Given the description of an element on the screen output the (x, y) to click on. 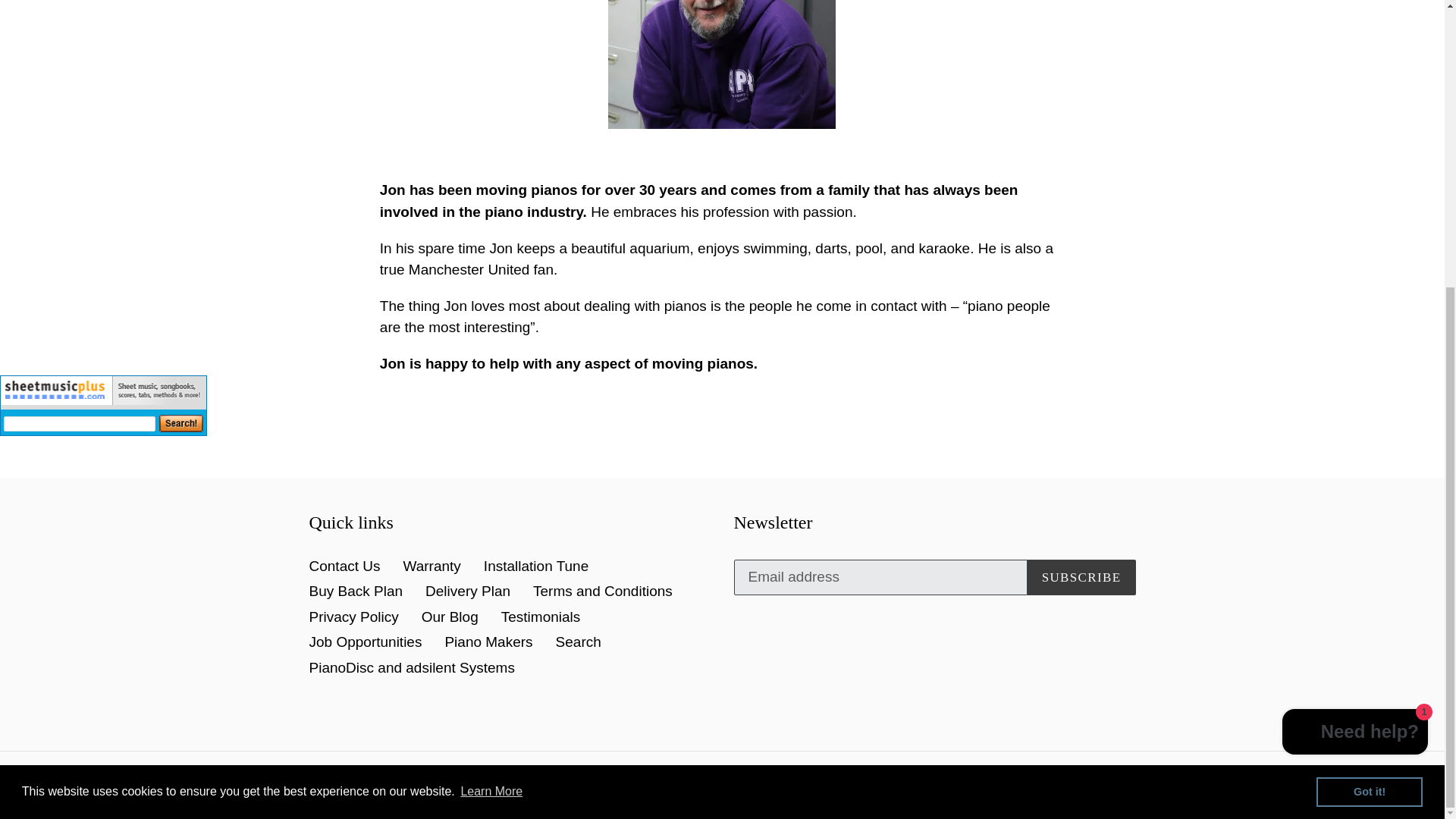
Got it! (1369, 358)
Shopify online store chat (1355, 299)
Learn More (491, 357)
